Given the description of an element on the screen output the (x, y) to click on. 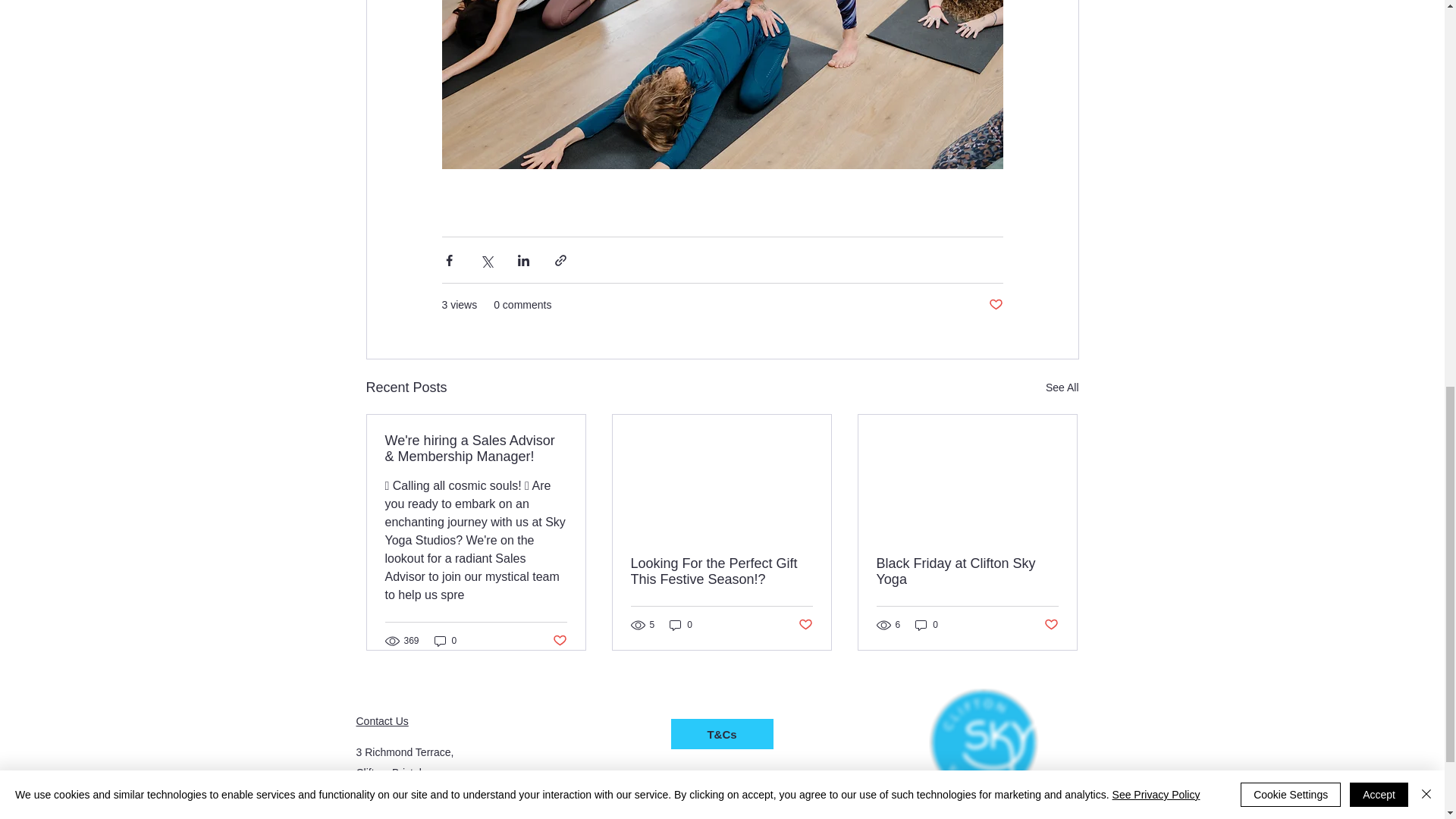
Post not marked as liked (1050, 625)
See All (1061, 387)
0 (681, 625)
Contact Us (382, 720)
Black Friday at Clifton Sky Yoga (967, 572)
Post not marked as liked (804, 625)
Post not marked as liked (558, 641)
0 (445, 640)
Looking For the Perfect Gift This Festive Season!? (721, 572)
Post not marked as liked (995, 304)
0 (926, 625)
Privacy Policy (721, 811)
